Given the description of an element on the screen output the (x, y) to click on. 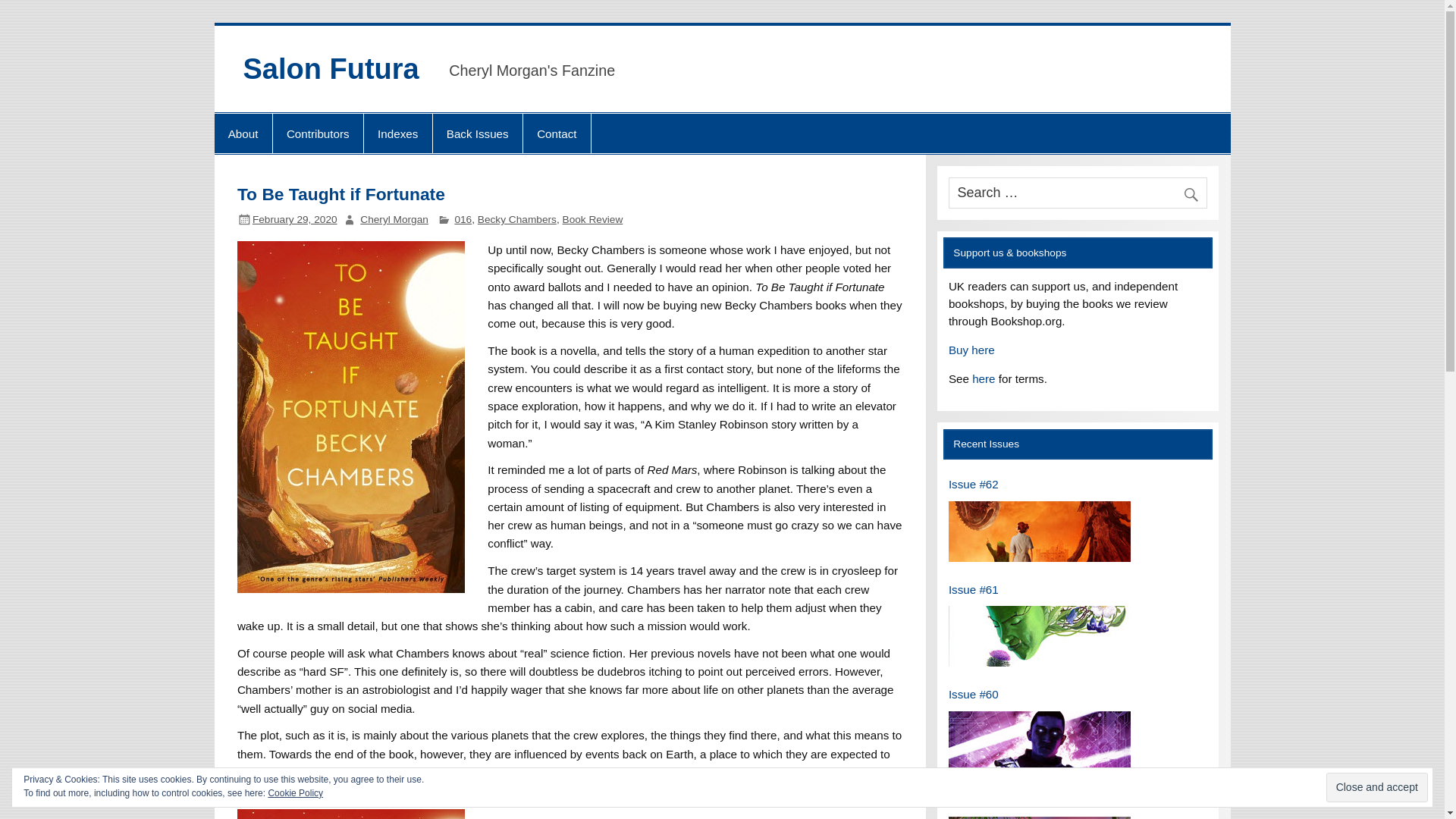
Salon Futura (331, 69)
here (983, 378)
Back Issues (477, 133)
About (242, 133)
8:25 pm (294, 219)
February 29, 2020 (294, 219)
Becky Chambers (516, 219)
Indexes (398, 133)
016 (462, 219)
Contact (556, 133)
Close and accept (1377, 787)
Buy here (971, 349)
Book Review (592, 219)
Cheryl Morgan (393, 219)
Contributors (317, 133)
